Given the description of an element on the screen output the (x, y) to click on. 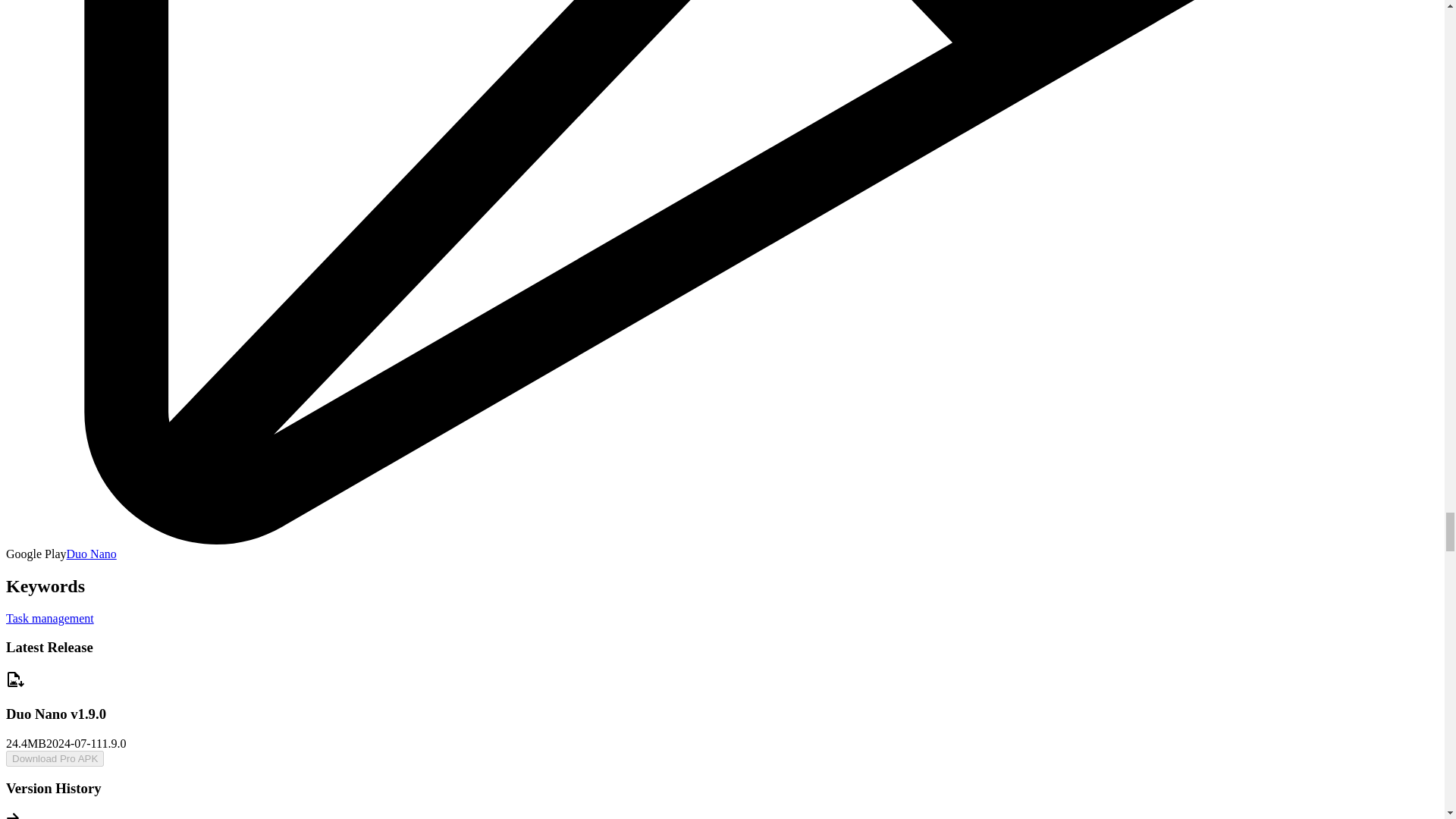
Task management (49, 617)
Duo Nano (91, 553)
Download Pro APK (54, 758)
